Given the description of an element on the screen output the (x, y) to click on. 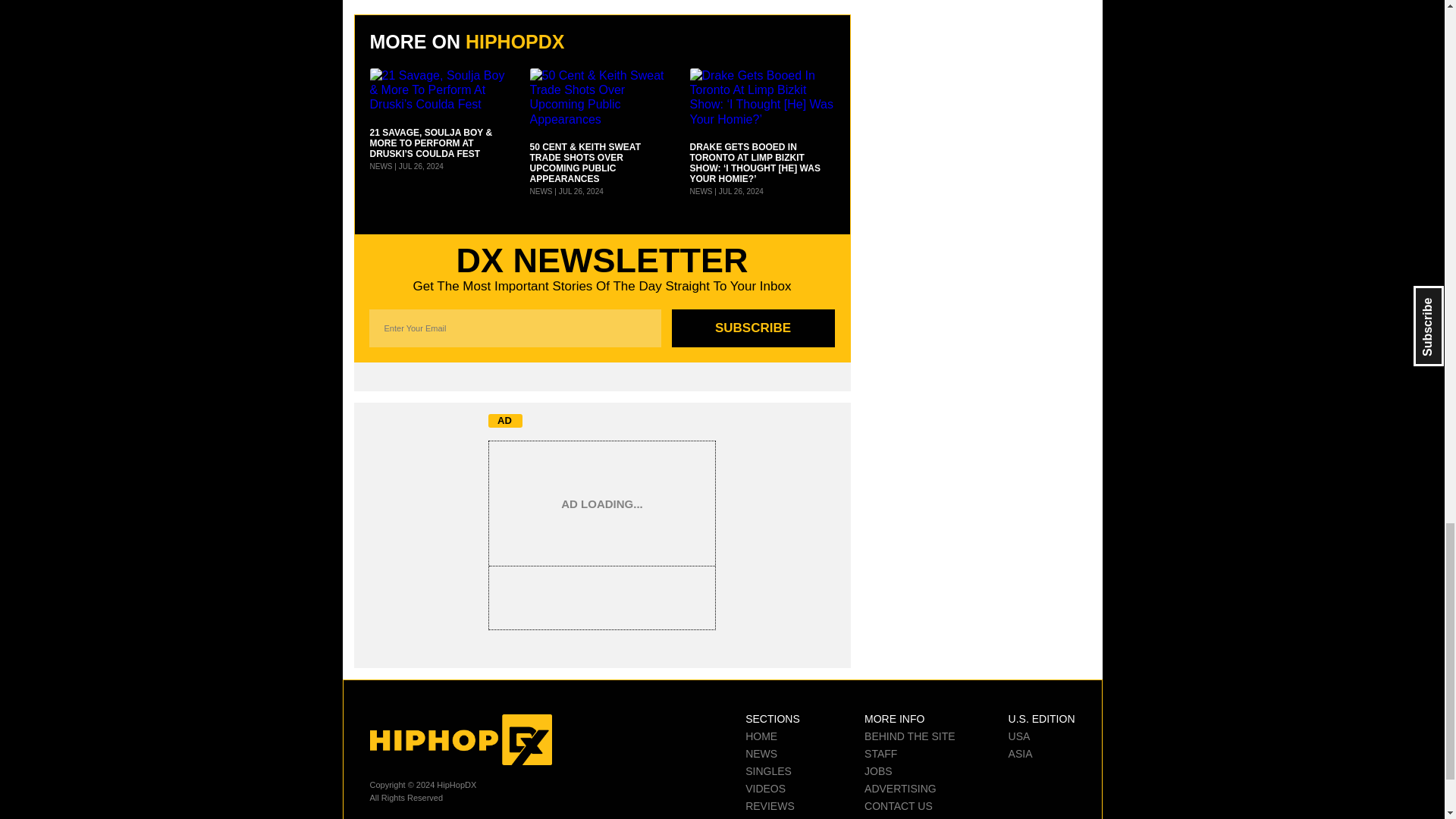
HipHopDX (460, 739)
